Given the description of an element on the screen output the (x, y) to click on. 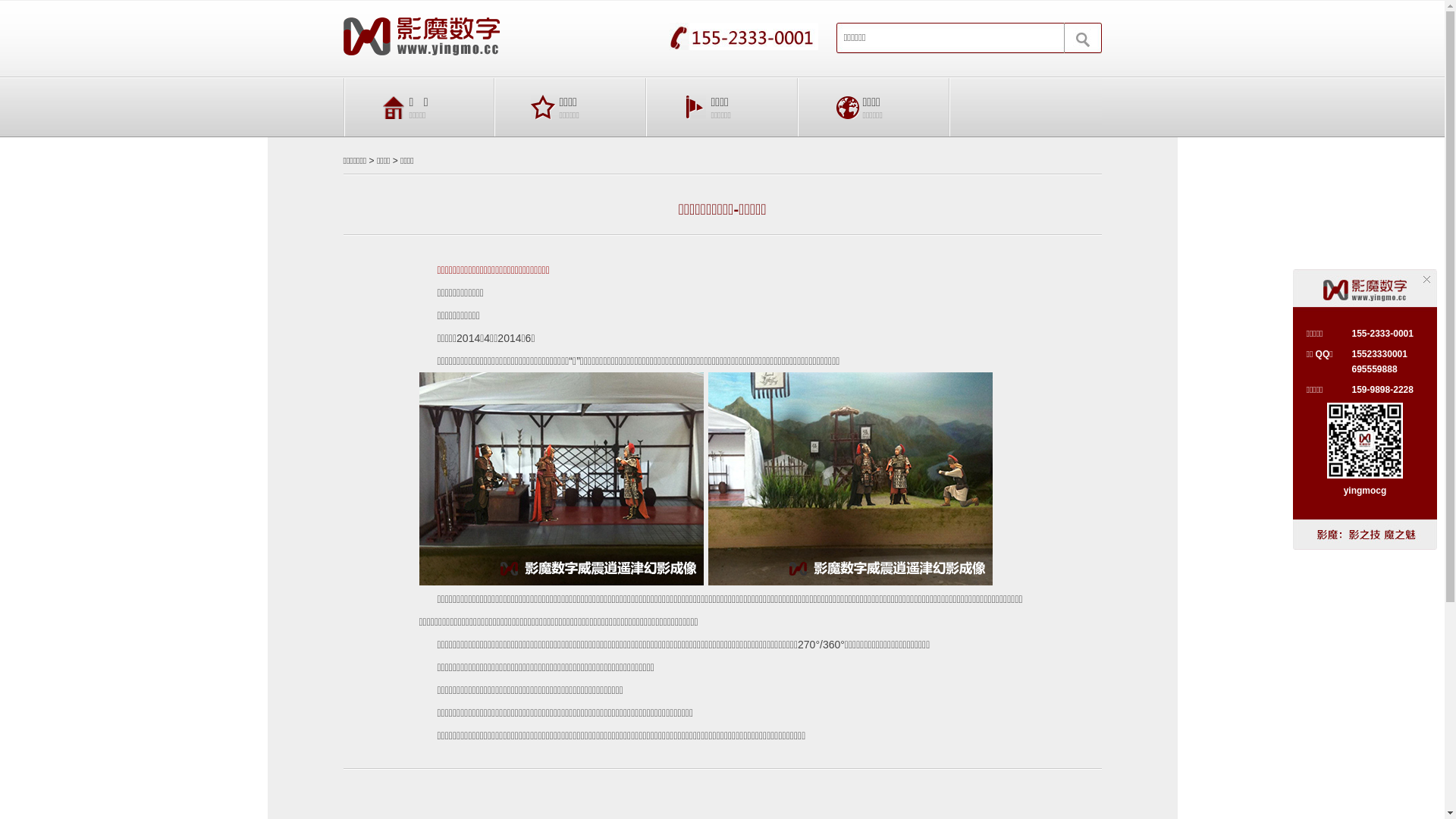
15523330001 Element type: text (1378, 353)
695559888 Element type: text (1373, 369)
